Given the description of an element on the screen output the (x, y) to click on. 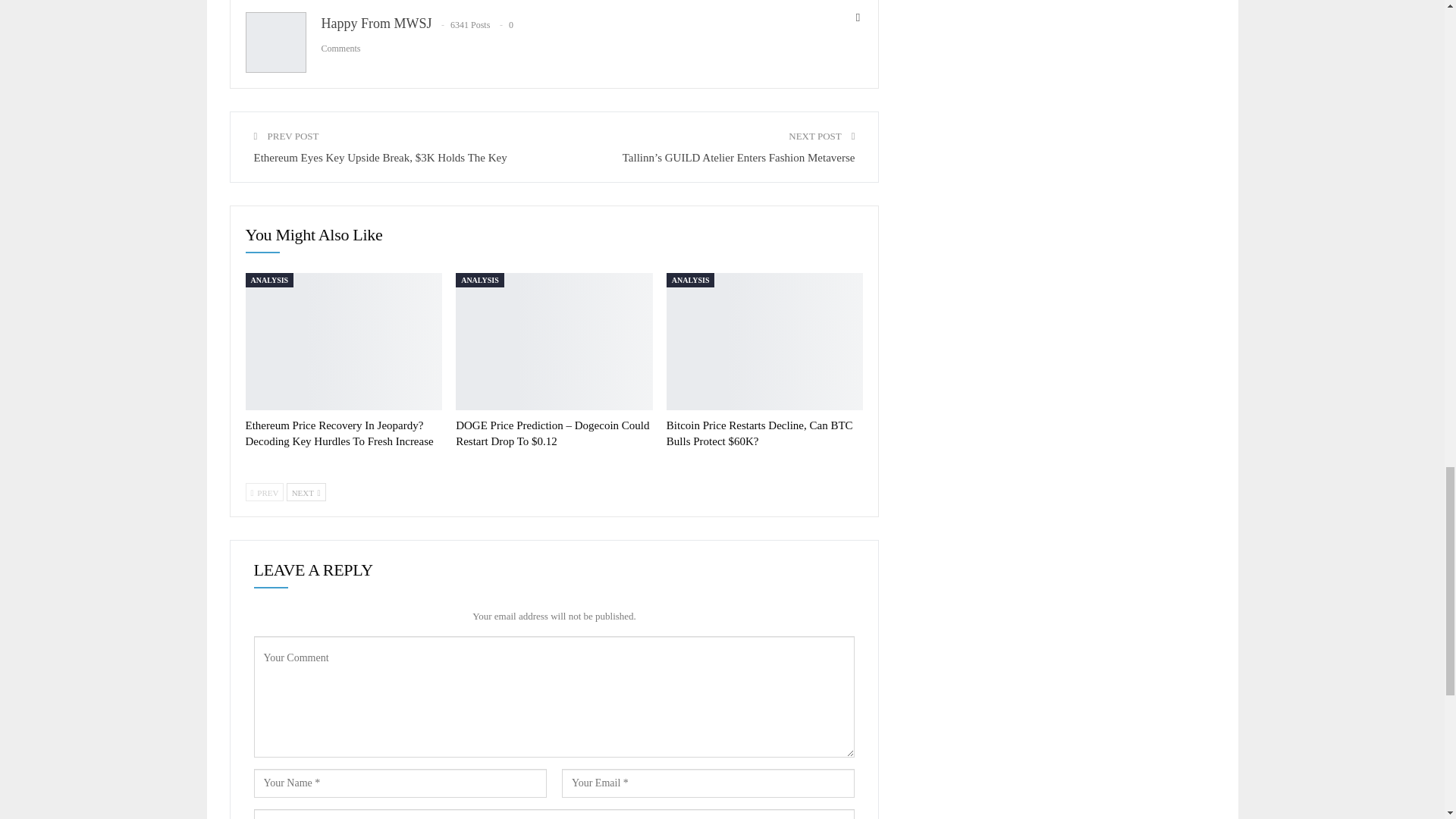
ANALYSIS (270, 279)
Happy From MWSJ (376, 23)
You Might Also Like (314, 236)
